Given the description of an element on the screen output the (x, y) to click on. 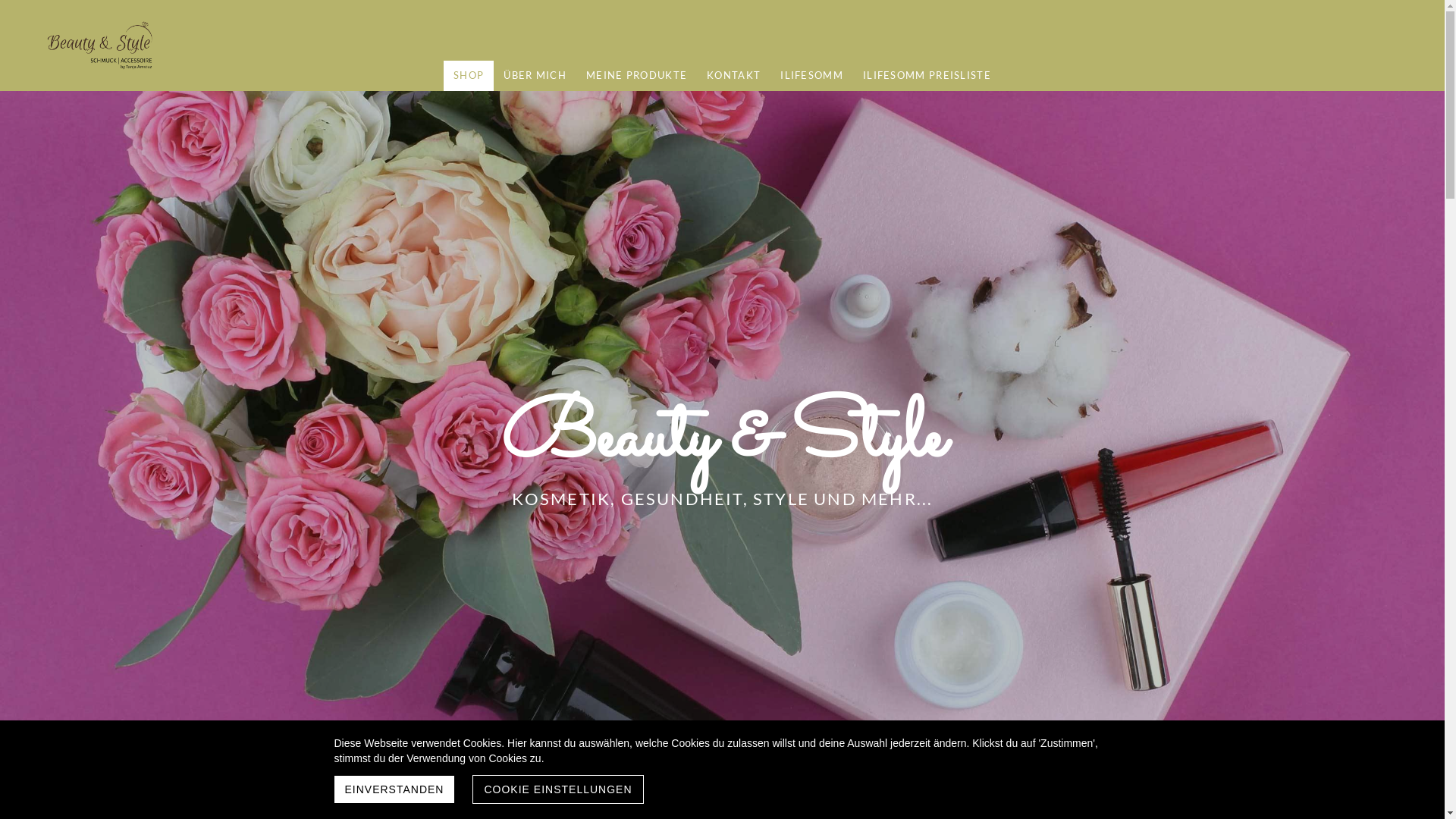
EINVERSTANDEN Element type: text (393, 789)
ILIFESOMM PREISLISTE Element type: text (927, 75)
MEINE PRODUKTE Element type: text (636, 75)
COOKIE EINSTELLUNGEN Element type: text (557, 789)
SHOP Element type: text (468, 75)
ILIFESOMM Element type: text (811, 75)
KONTAKT Element type: text (733, 75)
